Given the description of an element on the screen output the (x, y) to click on. 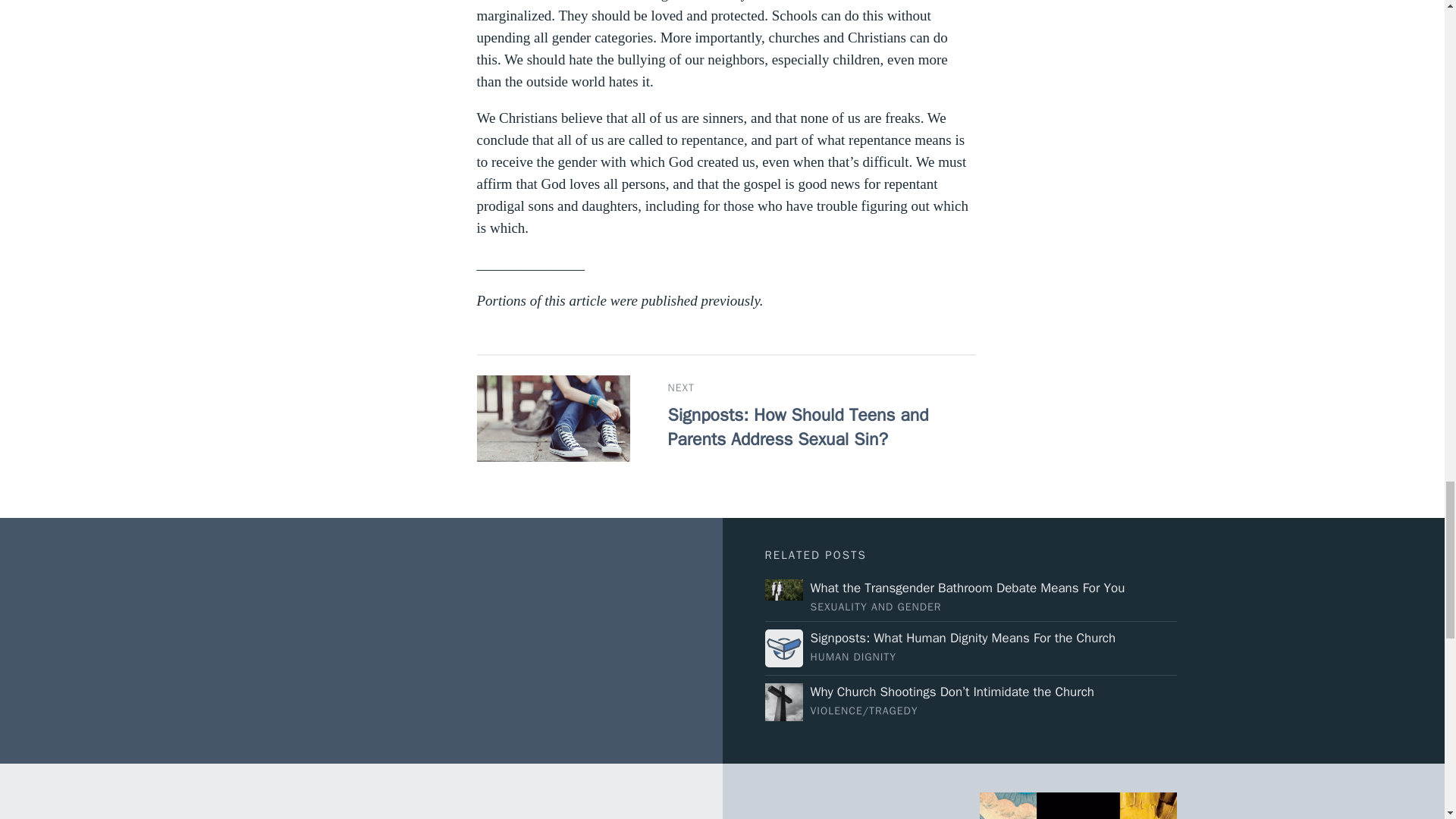
What the Transgender Bathroom Debate Means For You (970, 596)
Signposts: What Human Dignity Means For the Church (970, 648)
